Given the description of an element on the screen output the (x, y) to click on. 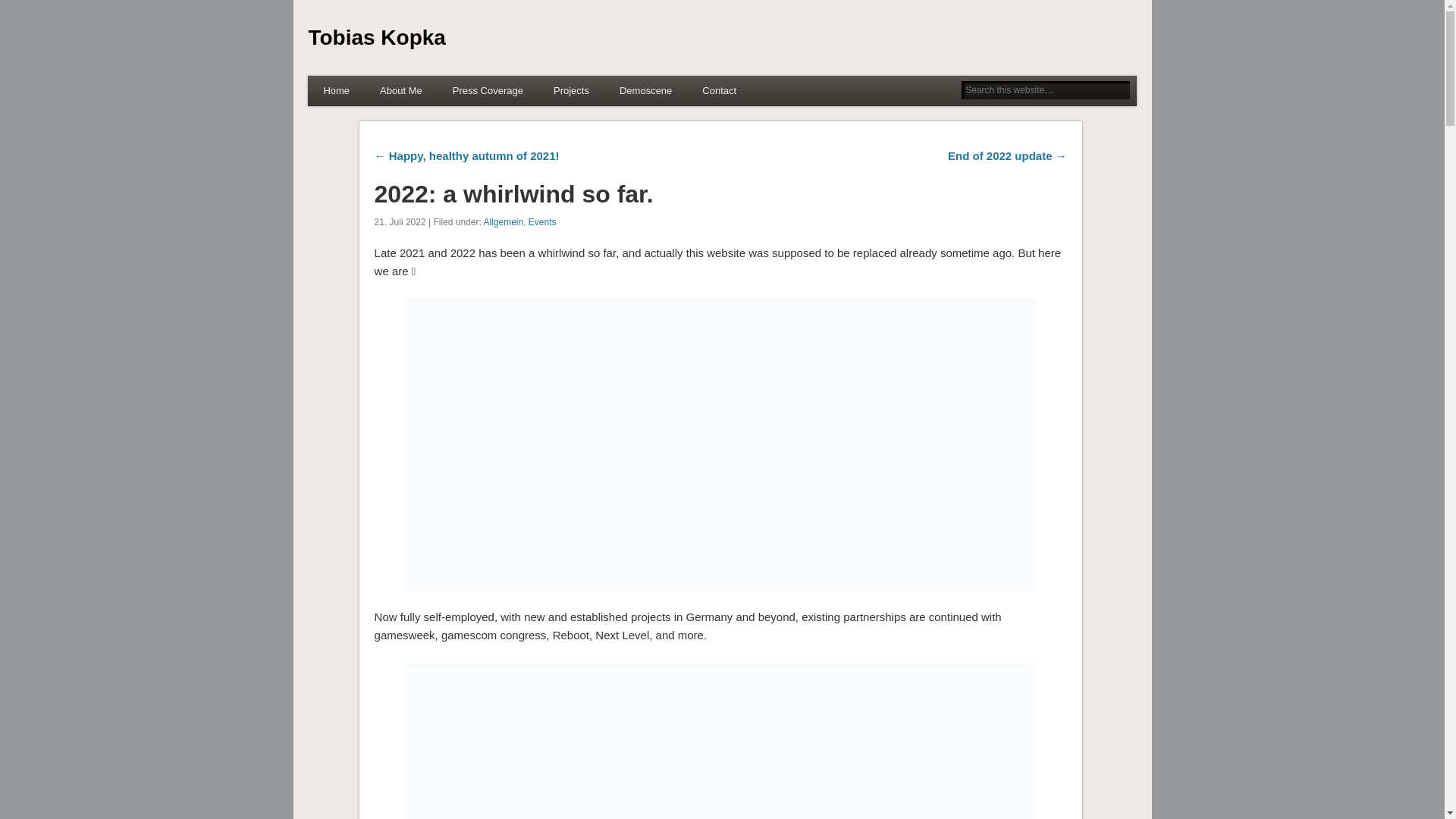
Demoscene (645, 91)
Tobias Kopka (376, 37)
Events (542, 222)
About Me (401, 91)
Allgemein (502, 222)
Search (11, 7)
Home (336, 91)
Press Coverage (488, 91)
Projects (571, 91)
Contact (719, 91)
